Given the description of an element on the screen output the (x, y) to click on. 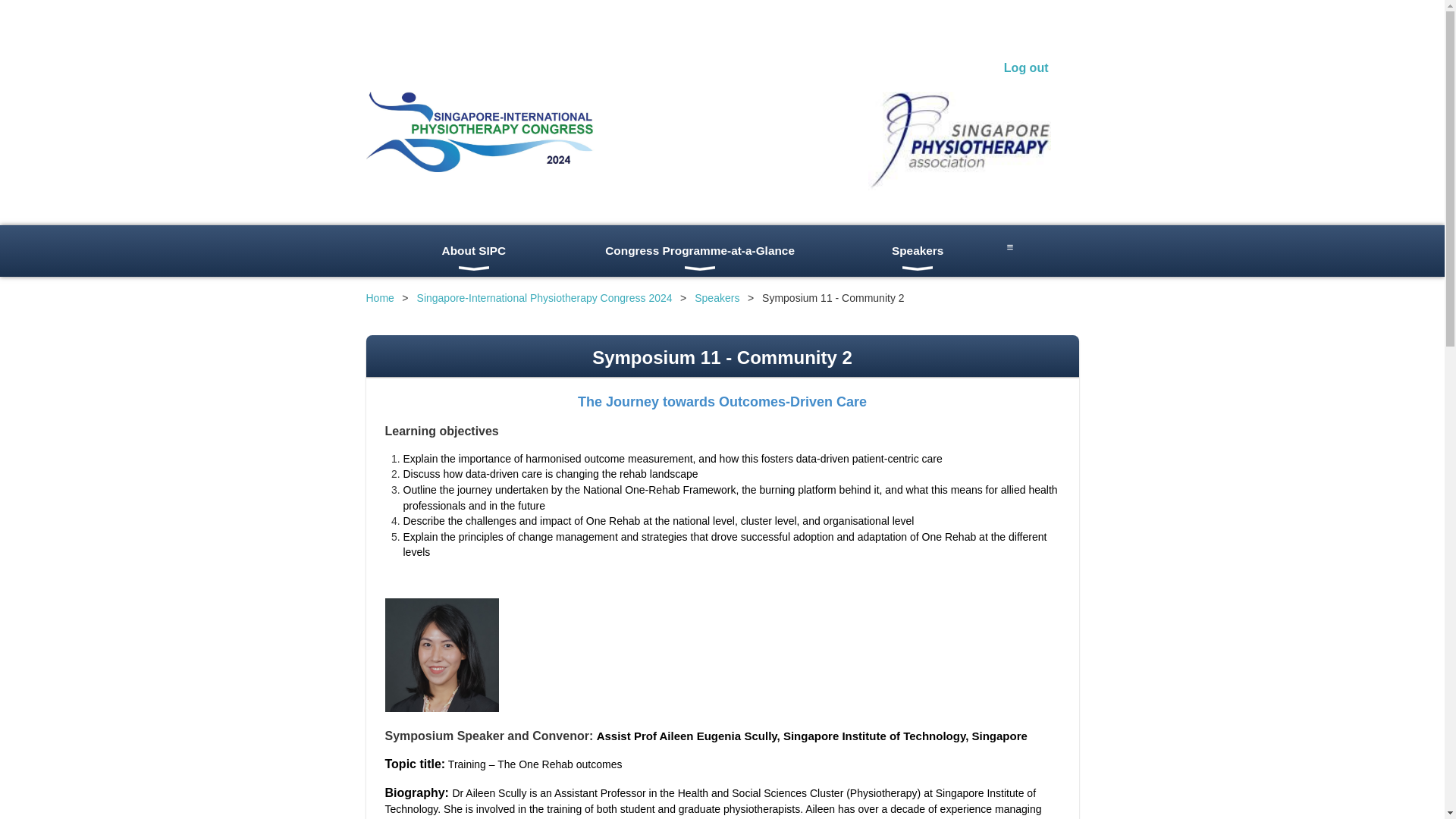
Speakers (917, 250)
Congress Programme-at-a-Glance (699, 250)
About SIPC (473, 250)
Log out (1026, 67)
About SIPC (473, 250)
Congress Programme-at-a-Glance (699, 250)
Speakers (917, 250)
Home (379, 297)
